Given the description of an element on the screen output the (x, y) to click on. 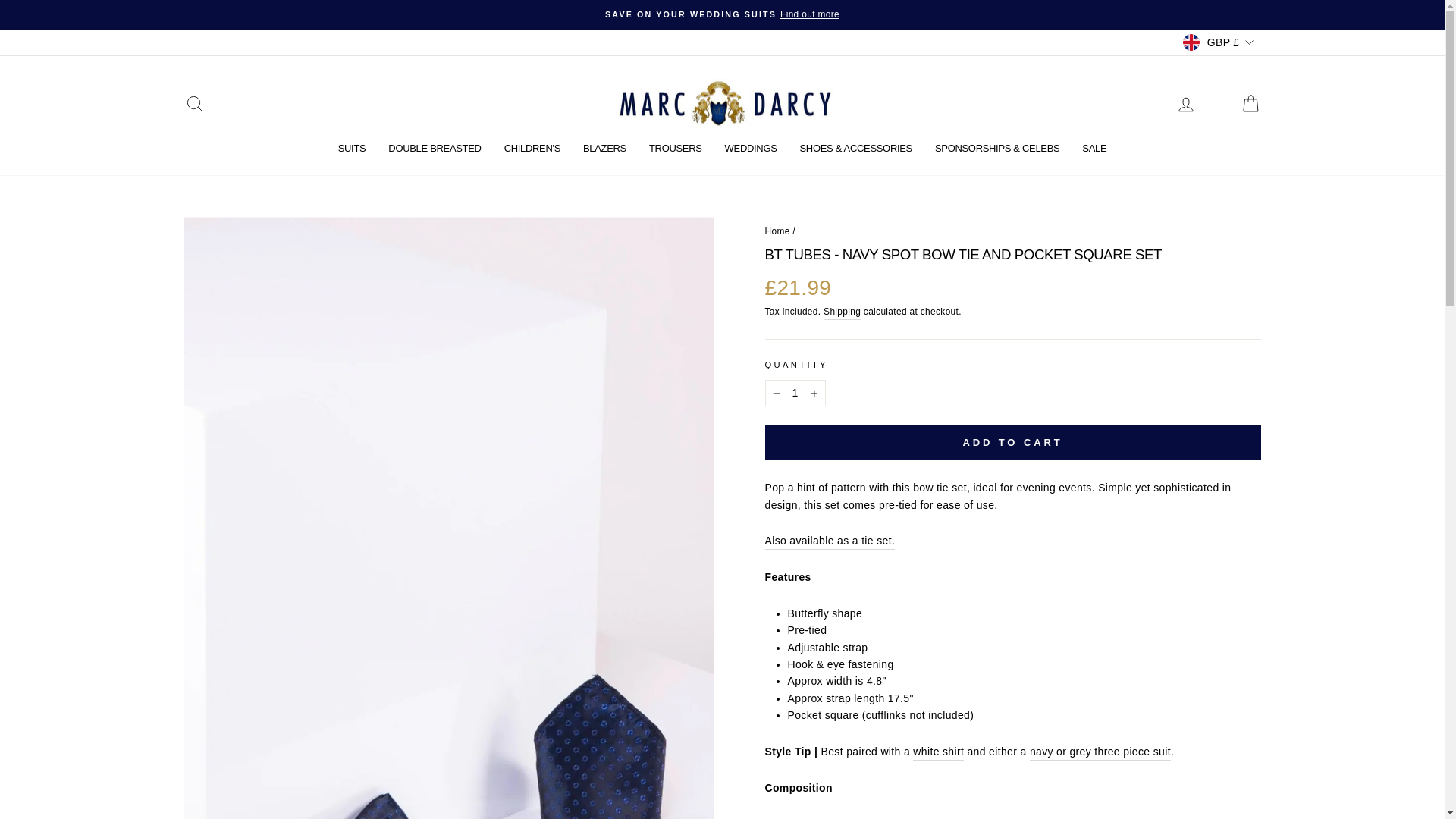
My Wishlist (1217, 103)
1 (794, 392)
SAVE ON YOUR WEDDING SUITSFind out more (722, 14)
ICON-SEARCH (194, 103)
ACCOUNT (1185, 104)
Back to the frontpage (776, 231)
